Given the description of an element on the screen output the (x, y) to click on. 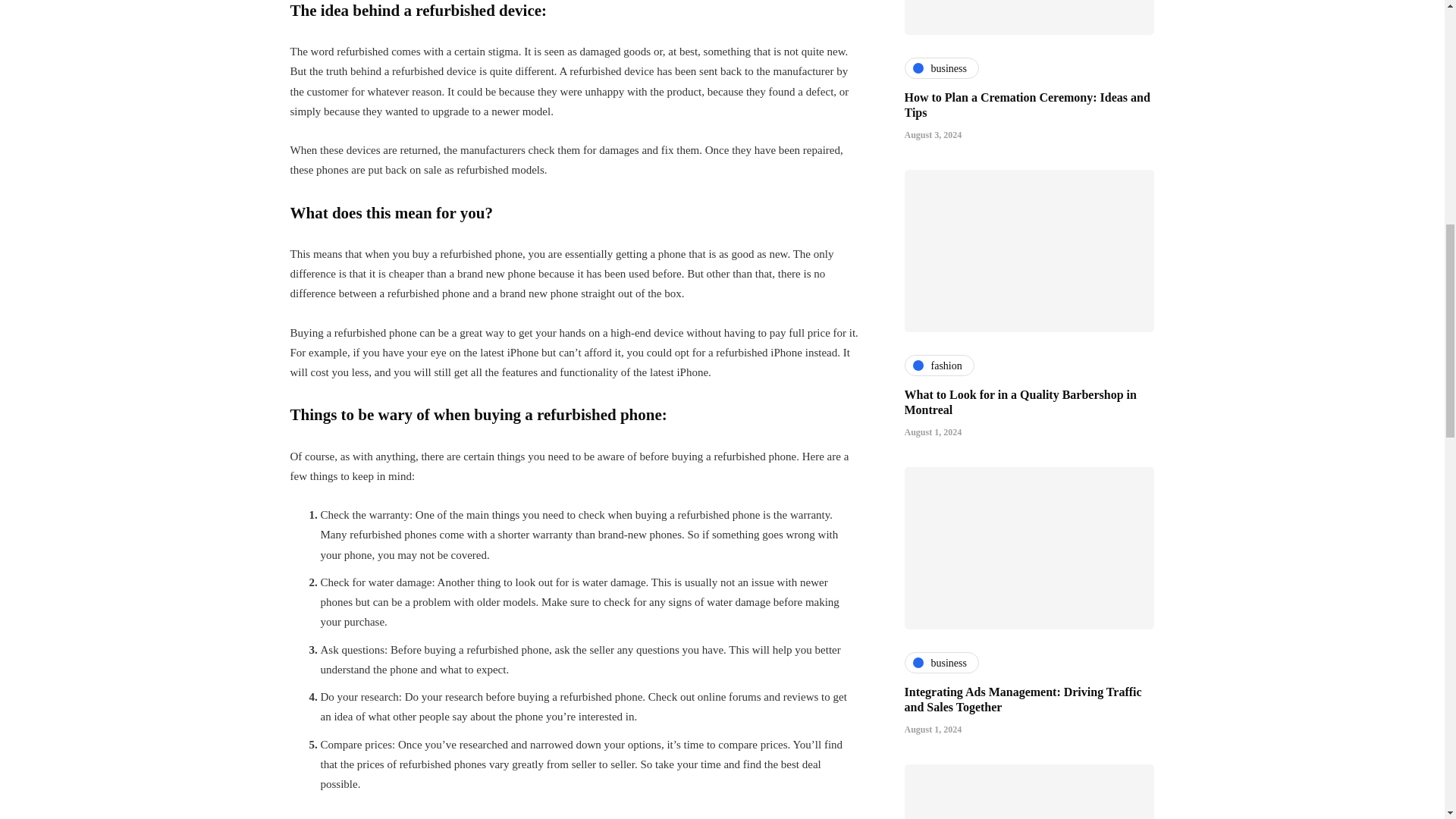
business (941, 572)
What to Look for in a Quality Barbershop in Montreal (1019, 15)
What are the most common applications of UHMWPE GB? (1014, 610)
business (941, 275)
